Given the description of an element on the screen output the (x, y) to click on. 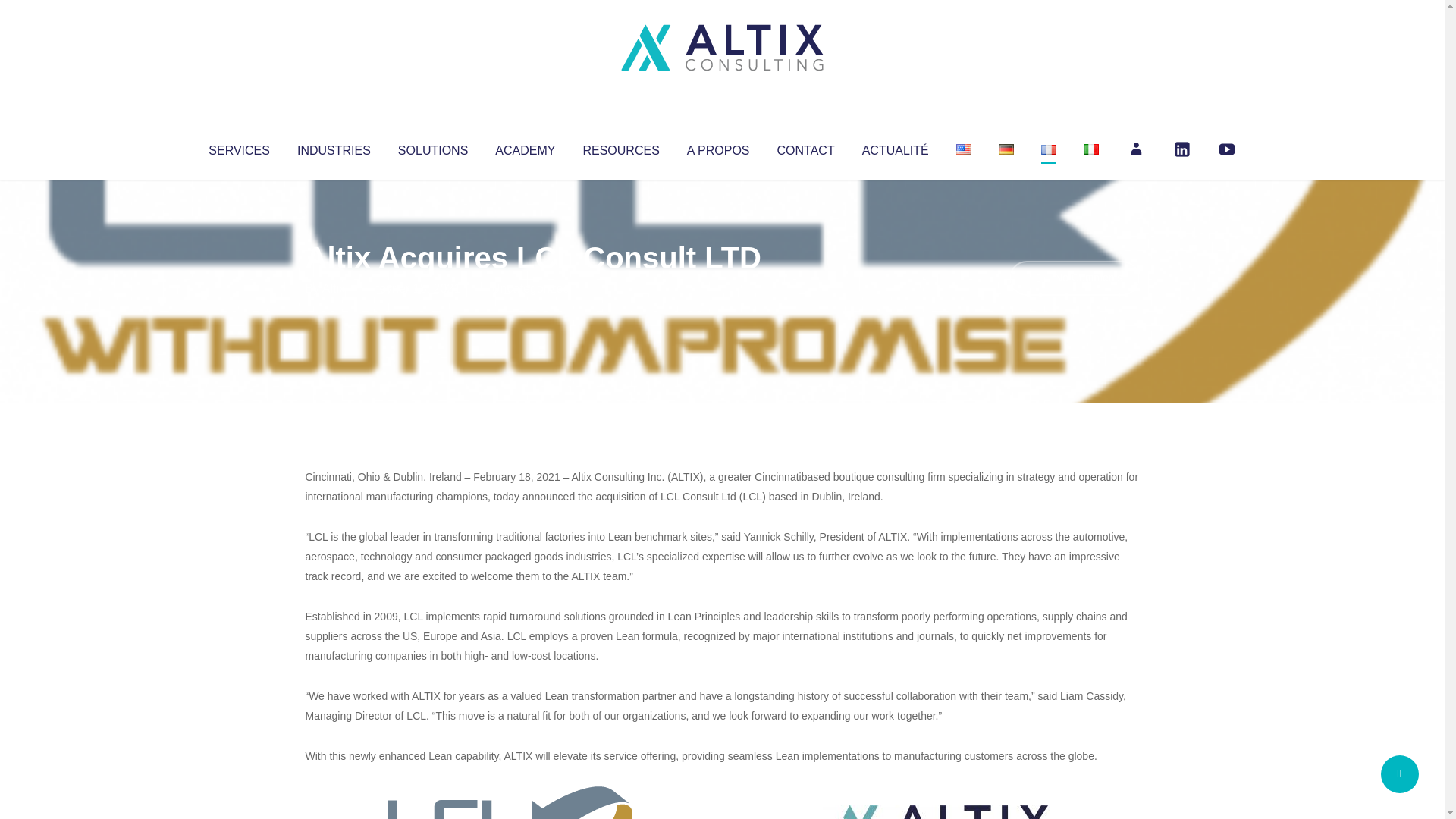
ACADEMY (524, 146)
SERVICES (238, 146)
INDUSTRIES (334, 146)
A PROPOS (718, 146)
Altix (333, 287)
Articles par Altix (333, 287)
Uncategorized (530, 287)
RESOURCES (620, 146)
No Comments (1073, 278)
SOLUTIONS (432, 146)
